Given the description of an element on the screen output the (x, y) to click on. 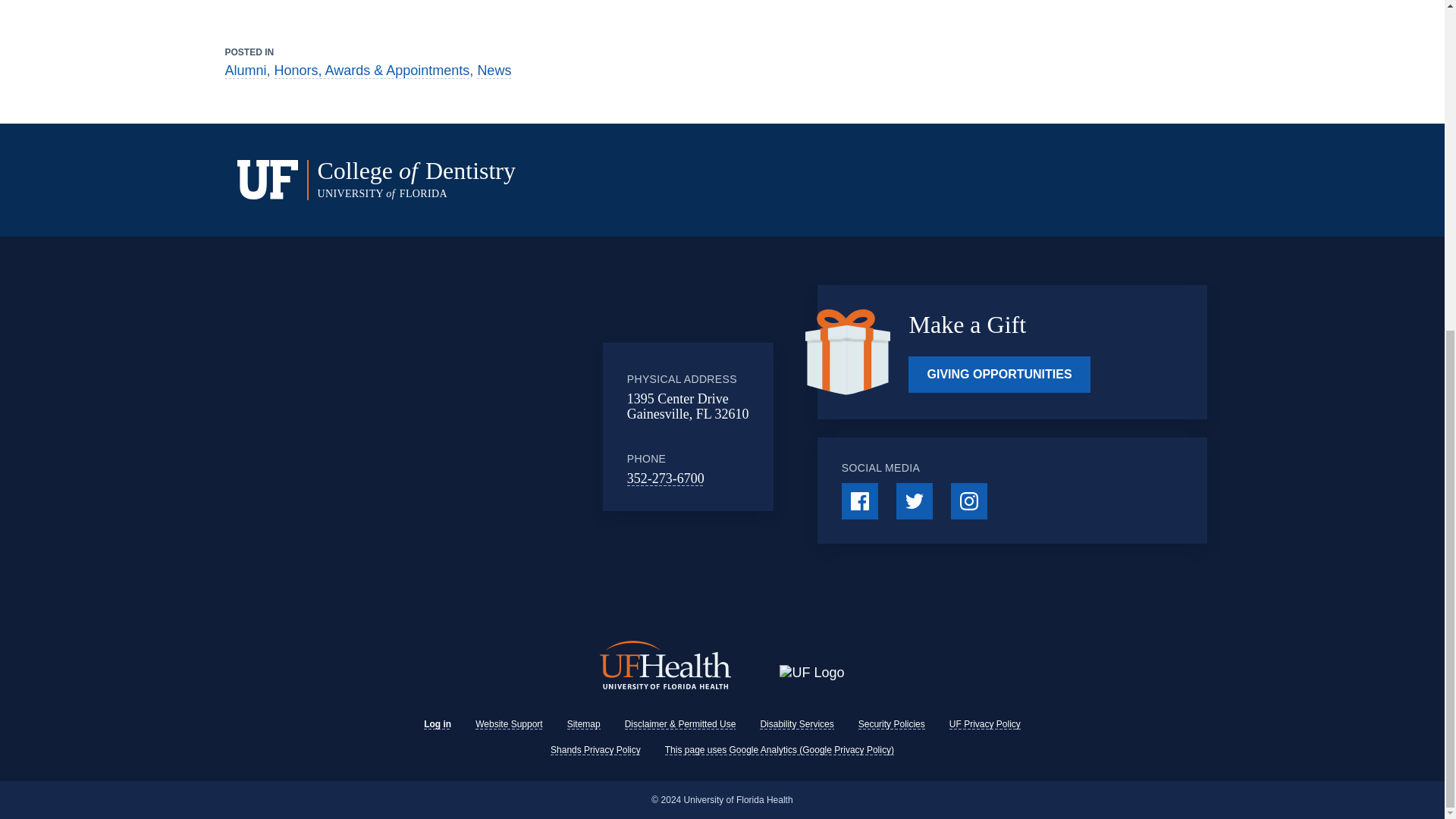
Disability Services (796, 724)
352-273-6700 (665, 478)
Website Support (509, 724)
Sitemap (583, 724)
Log in (437, 724)
UF Privacy Policy (984, 724)
Google Maps Embed (478, 426)
Security Policies (891, 724)
Shands Privacy Policy (595, 749)
